Given the description of an element on the screen output the (x, y) to click on. 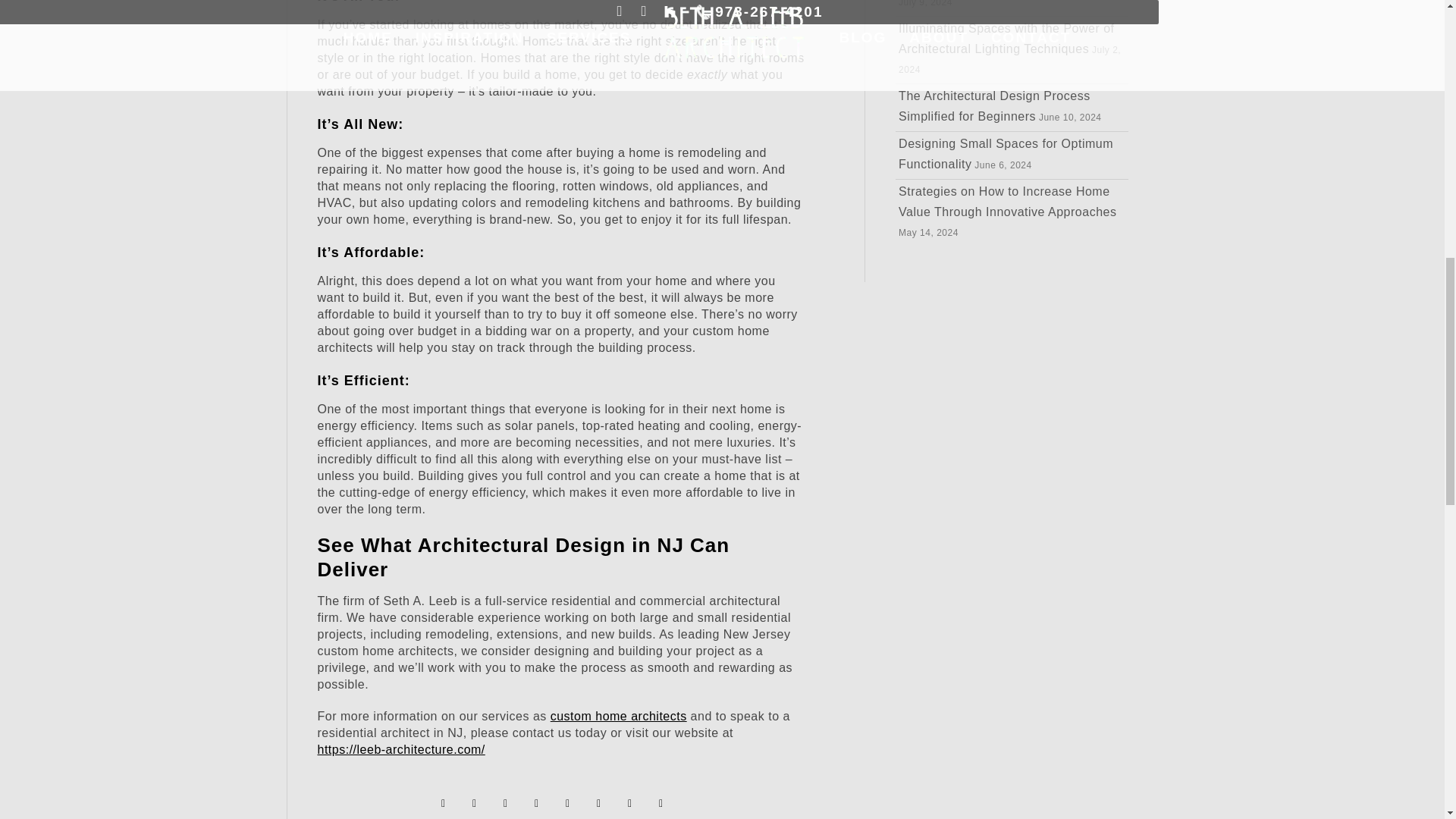
Share (536, 803)
Share (505, 803)
Share (629, 803)
Share (661, 803)
Share (568, 803)
Share (474, 803)
Share (598, 803)
Share (443, 803)
